Given the description of an element on the screen output the (x, y) to click on. 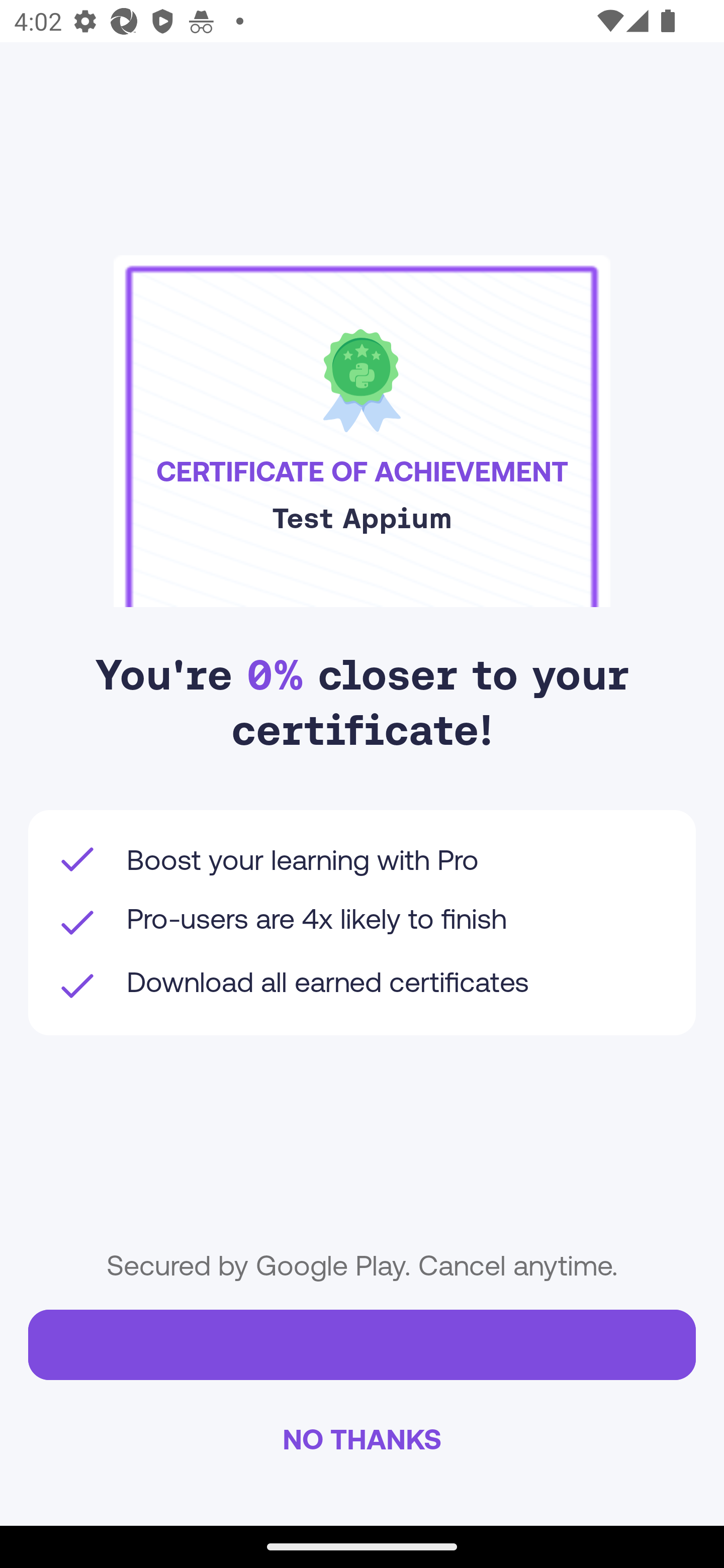
NO THANKS (361, 1438)
